Given the description of an element on the screen output the (x, y) to click on. 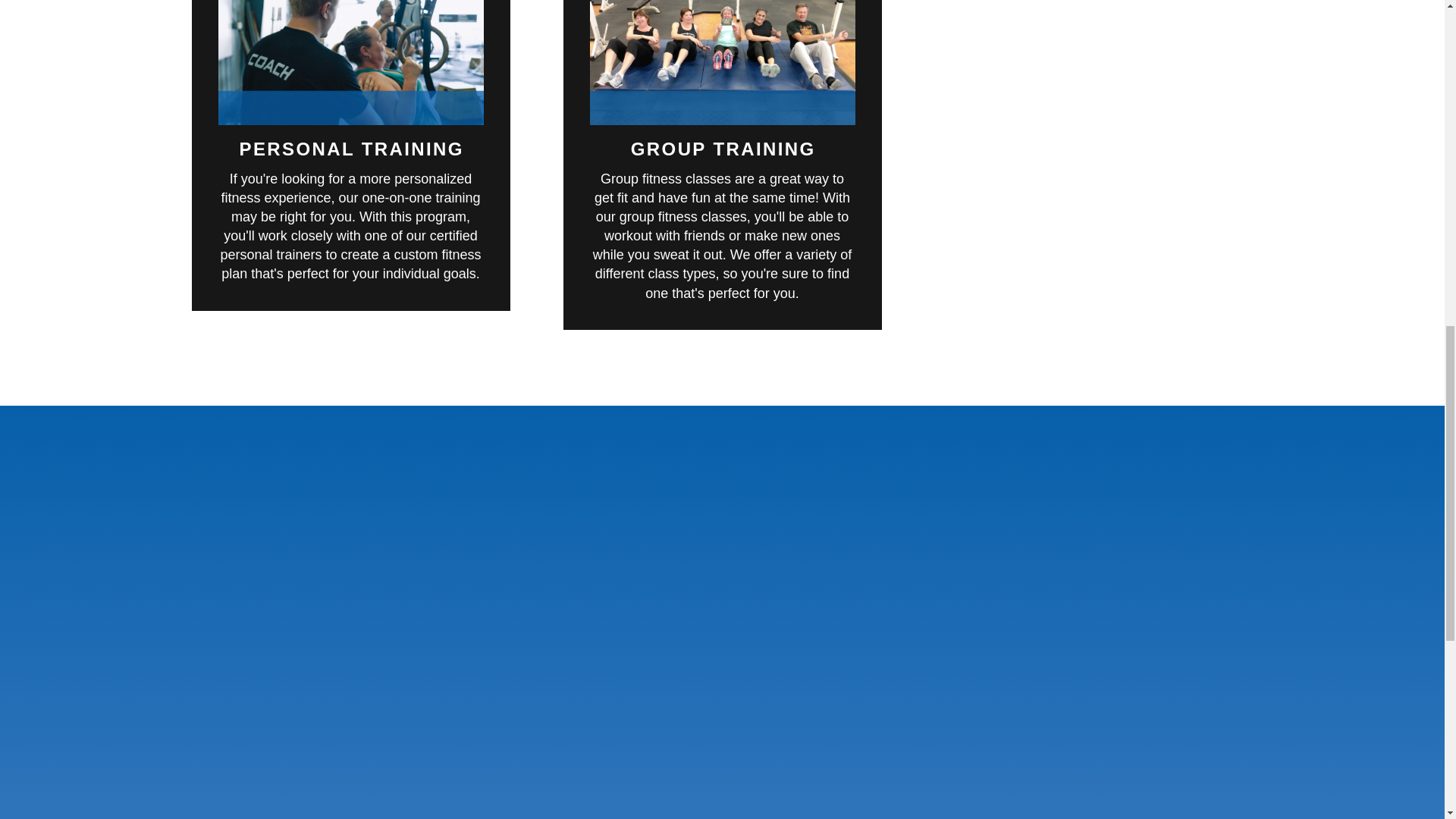
GROUP TRAINING (722, 148)
PERSONAL TRAINING (352, 148)
Woman working out with trainer (350, 62)
Group fitness class working out together (722, 62)
